Given the description of an element on the screen output the (x, y) to click on. 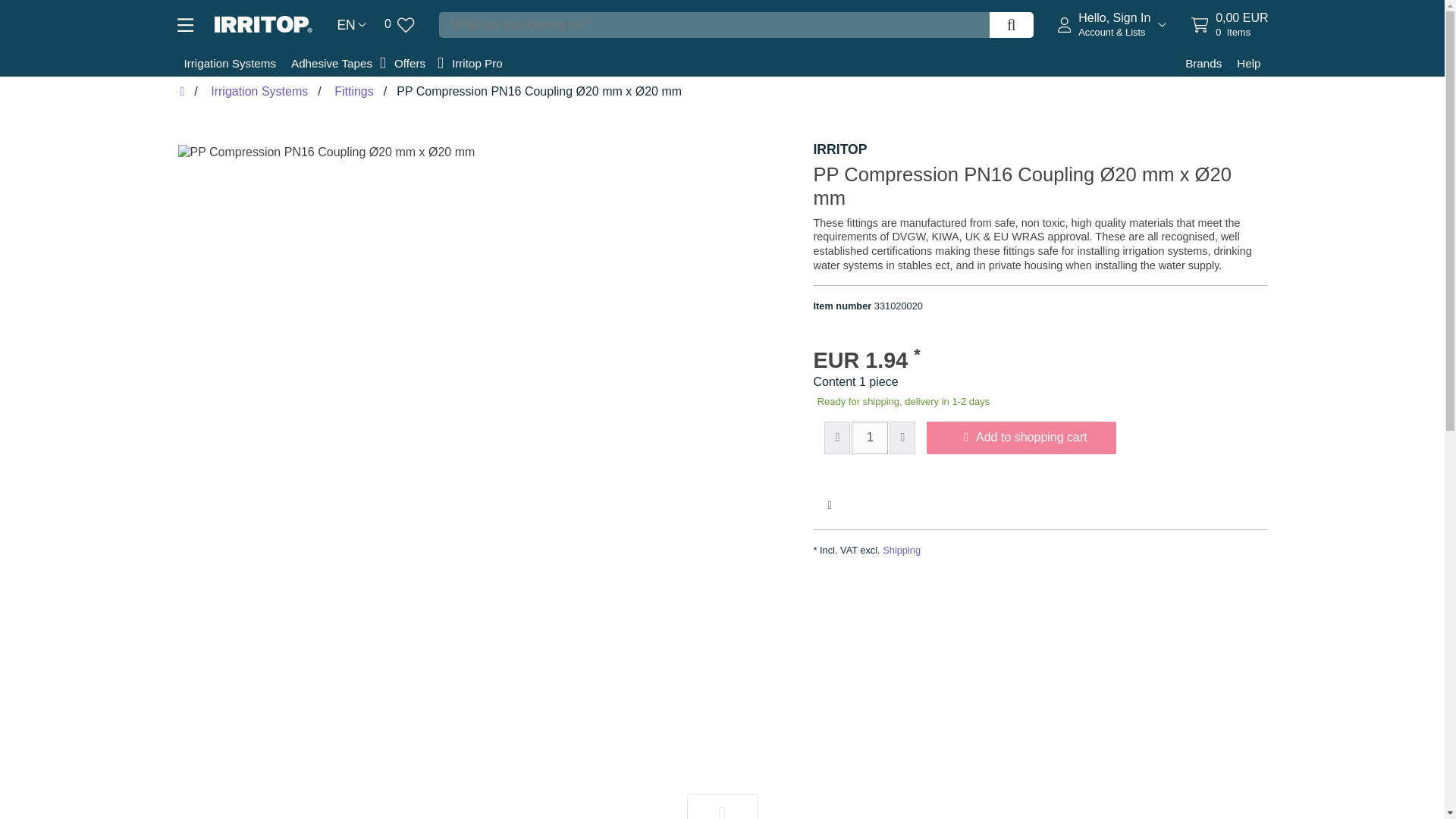
1 (869, 437)
Shipping (901, 550)
Adhesive Tapes (331, 62)
0 (399, 24)
EN (1229, 24)
Irrigation Systems (351, 25)
Offers (229, 62)
irritop.com (411, 62)
